Given the description of an element on the screen output the (x, y) to click on. 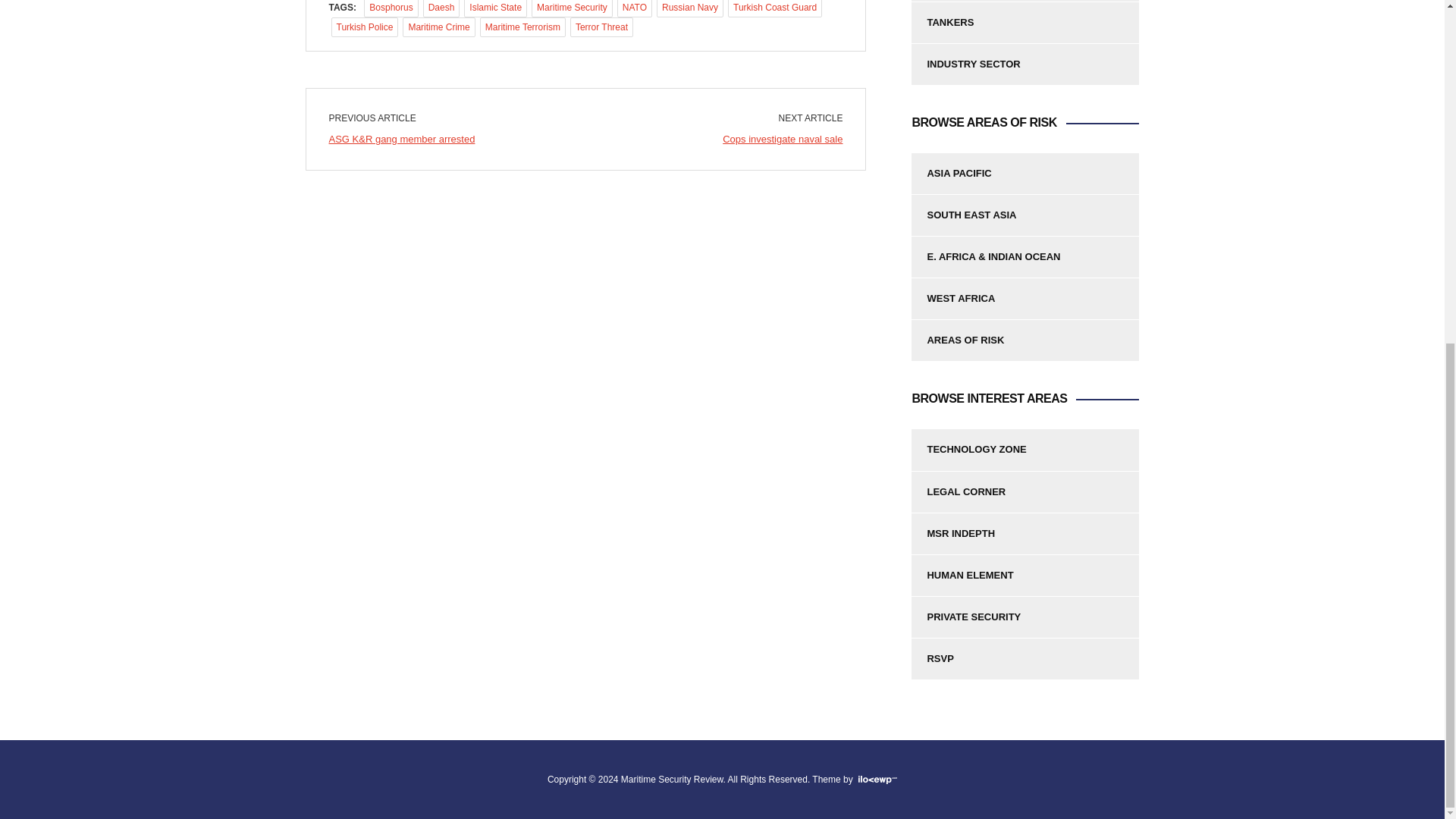
Terror Threat (601, 26)
Free WordPress Themes (876, 778)
Bosphorus (390, 8)
Maritime Security (571, 8)
Turkish Police (363, 26)
Maritime Crime (438, 26)
Russian Navy (689, 8)
Daesh (441, 8)
Turkish Coast Guard (775, 8)
Islamic State (495, 8)
